Given the description of an element on the screen output the (x, y) to click on. 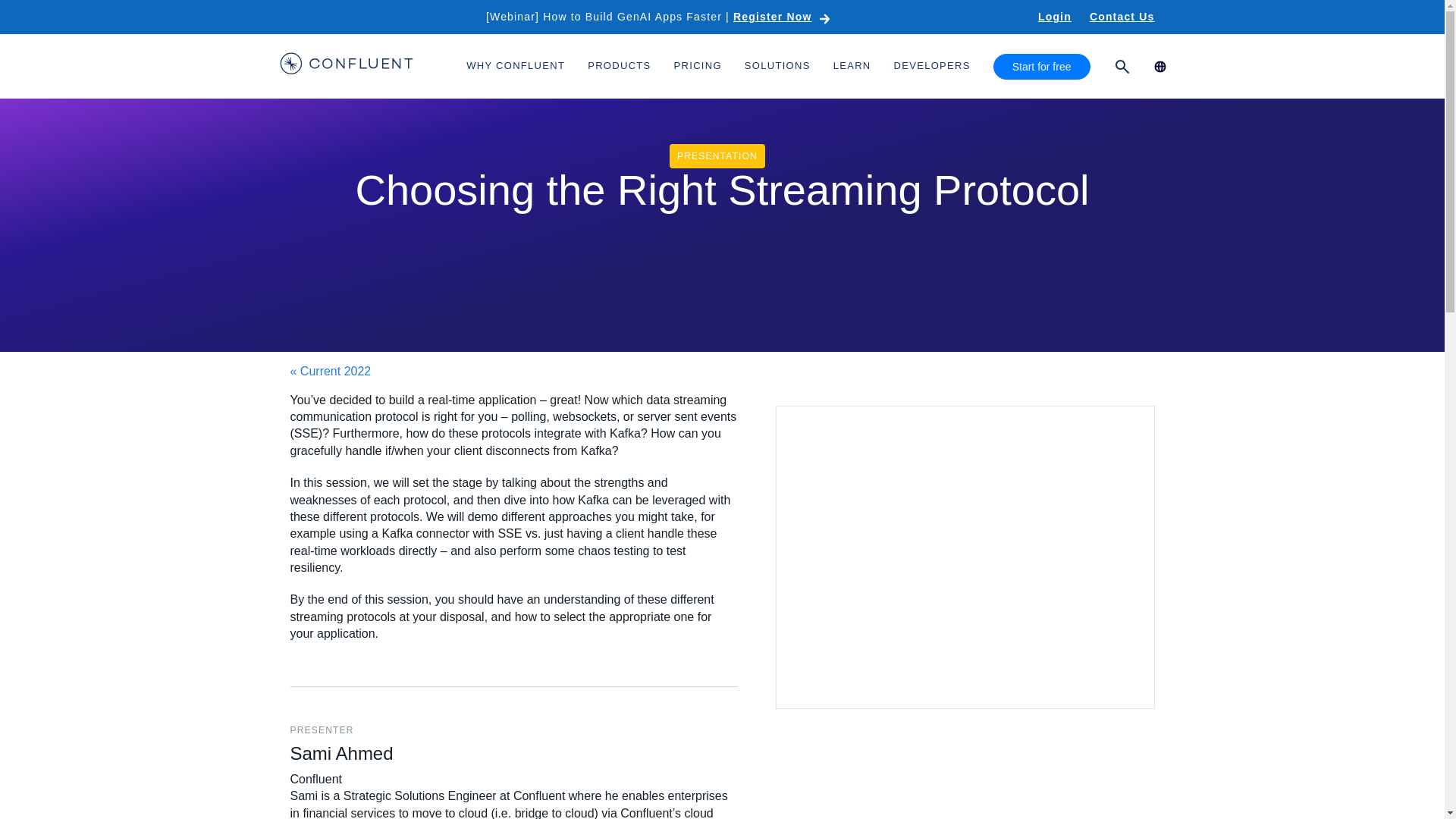
Login (1054, 16)
Register Now (782, 16)
Contact Us (1121, 16)
Presentation slide deck (964, 557)
Confluent (346, 65)
